Given the description of an element on the screen output the (x, y) to click on. 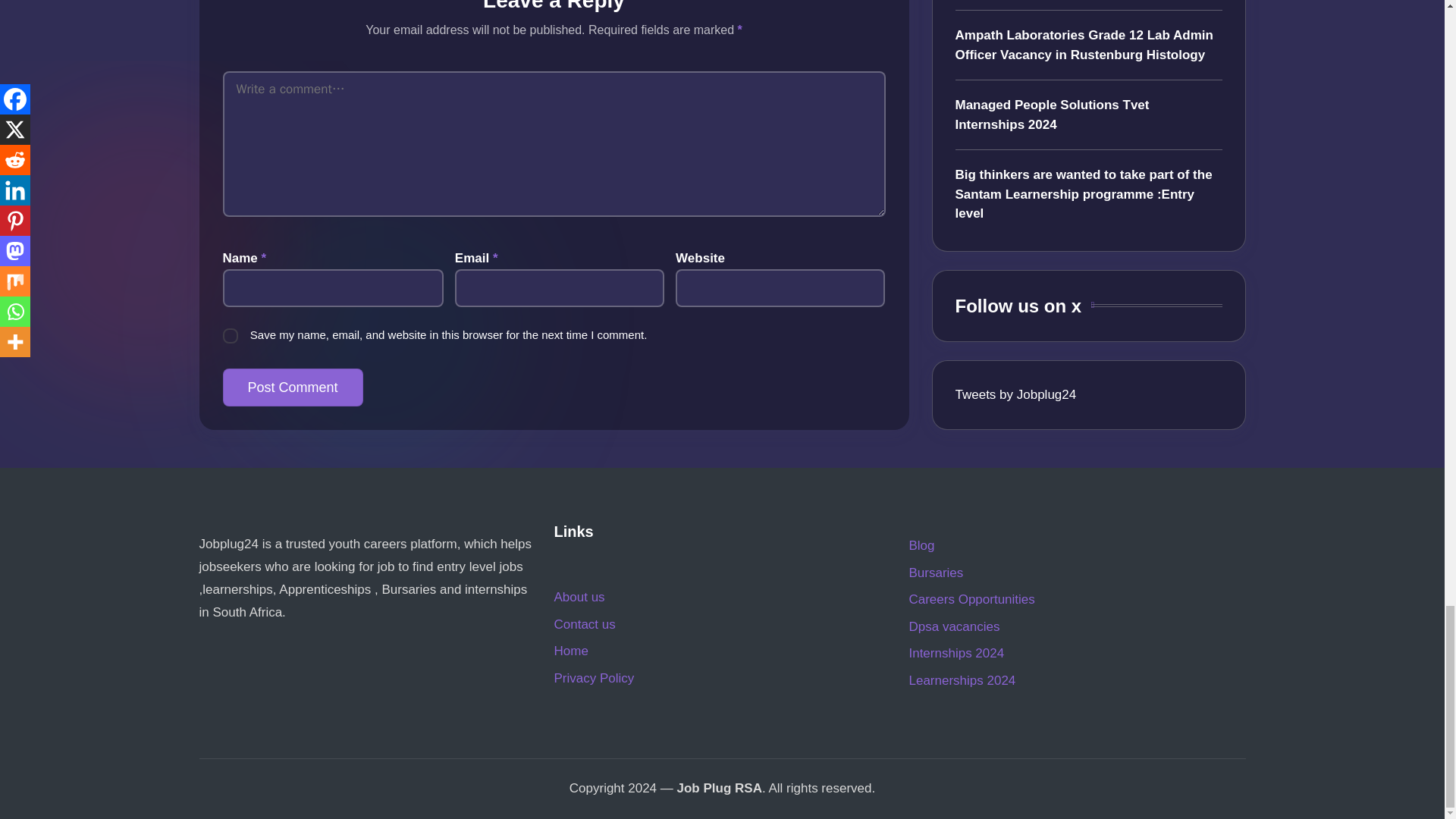
yes (230, 335)
Post Comment (292, 387)
Post Comment (292, 387)
